Given the description of an element on the screen output the (x, y) to click on. 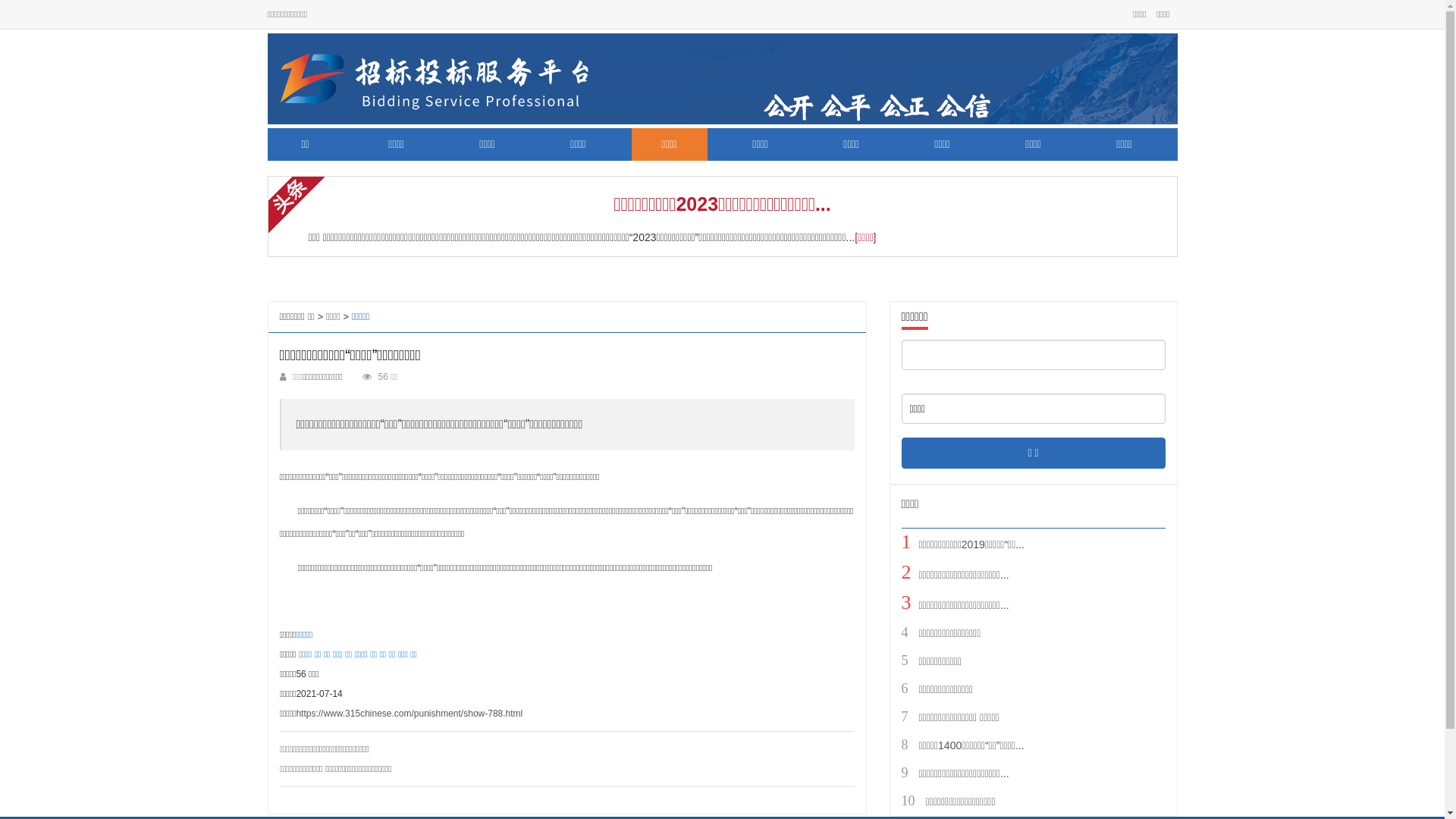
https://www.315chinese.com/punishment/show-788.html Element type: text (408, 713)
